Given the description of an element on the screen output the (x, y) to click on. 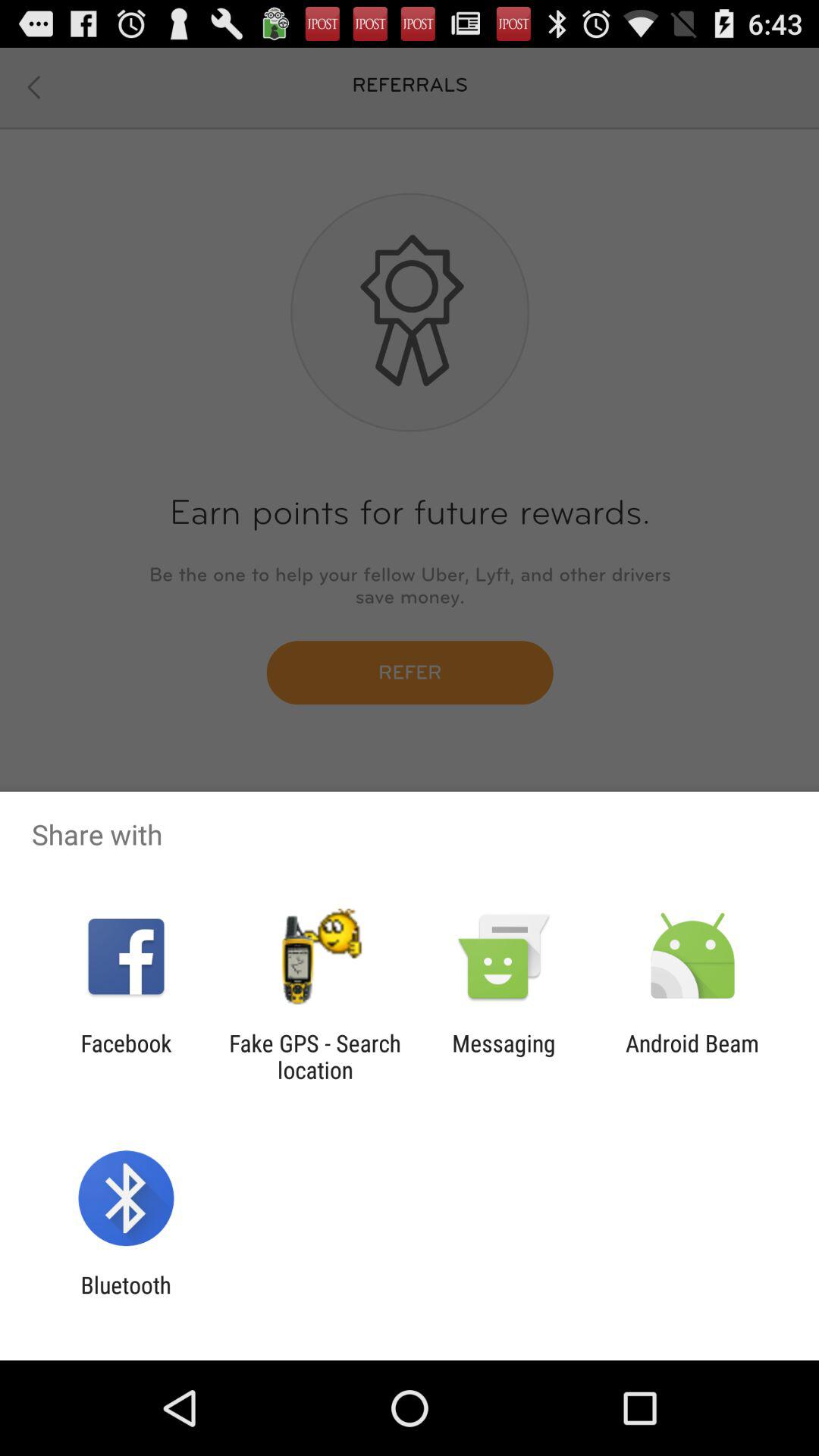
swipe until the fake gps search app (314, 1056)
